Given the description of an element on the screen output the (x, y) to click on. 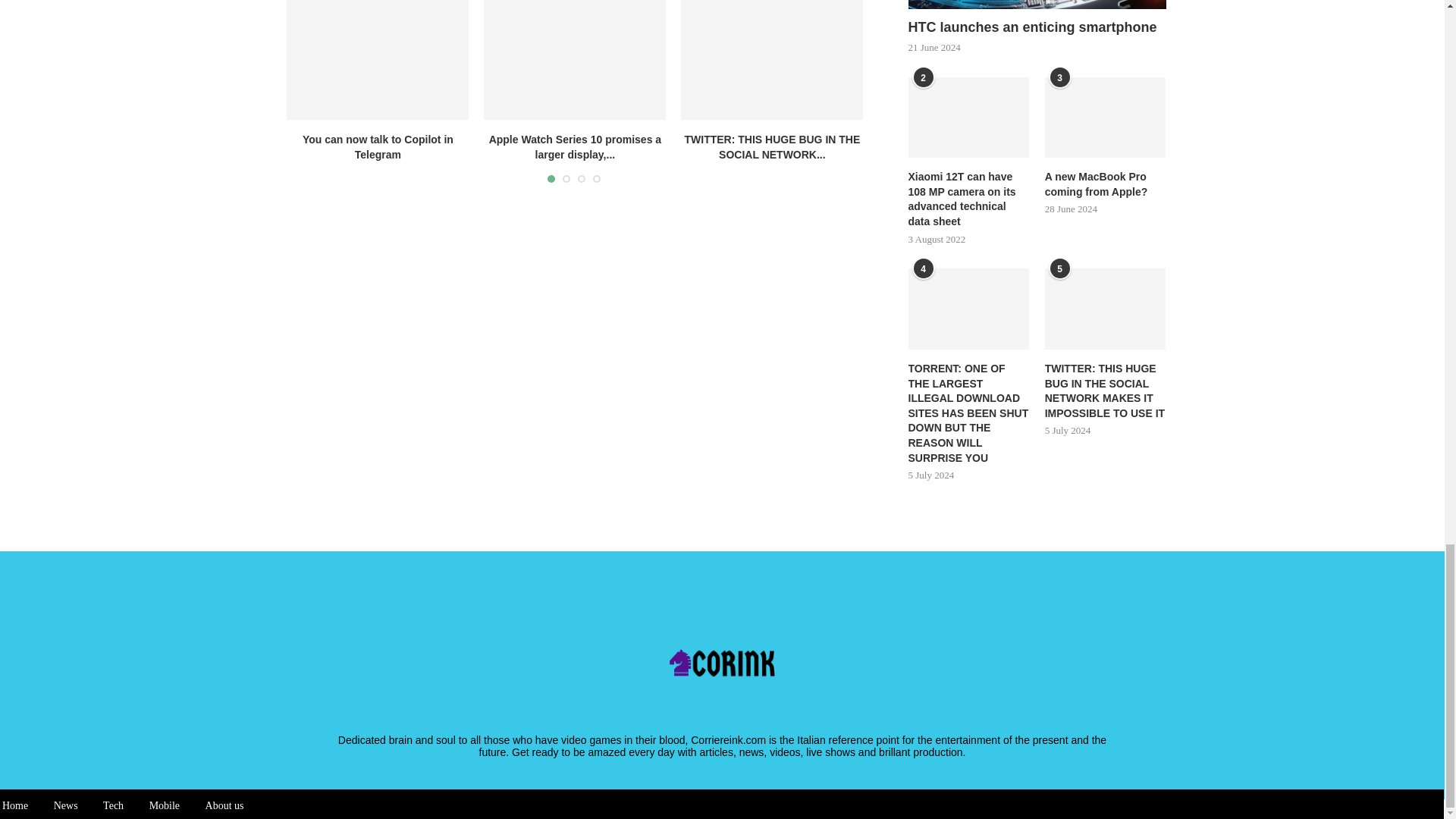
You can now talk to Copilot in Telegram (377, 146)
TWITTER: THIS HUGE BUG IN THE SOCIAL NETWORK... (772, 146)
Apple Watch Series 10 promises a larger display,... (575, 146)
You can now talk to Copilot in Telegram (377, 59)
